Given the description of an element on the screen output the (x, y) to click on. 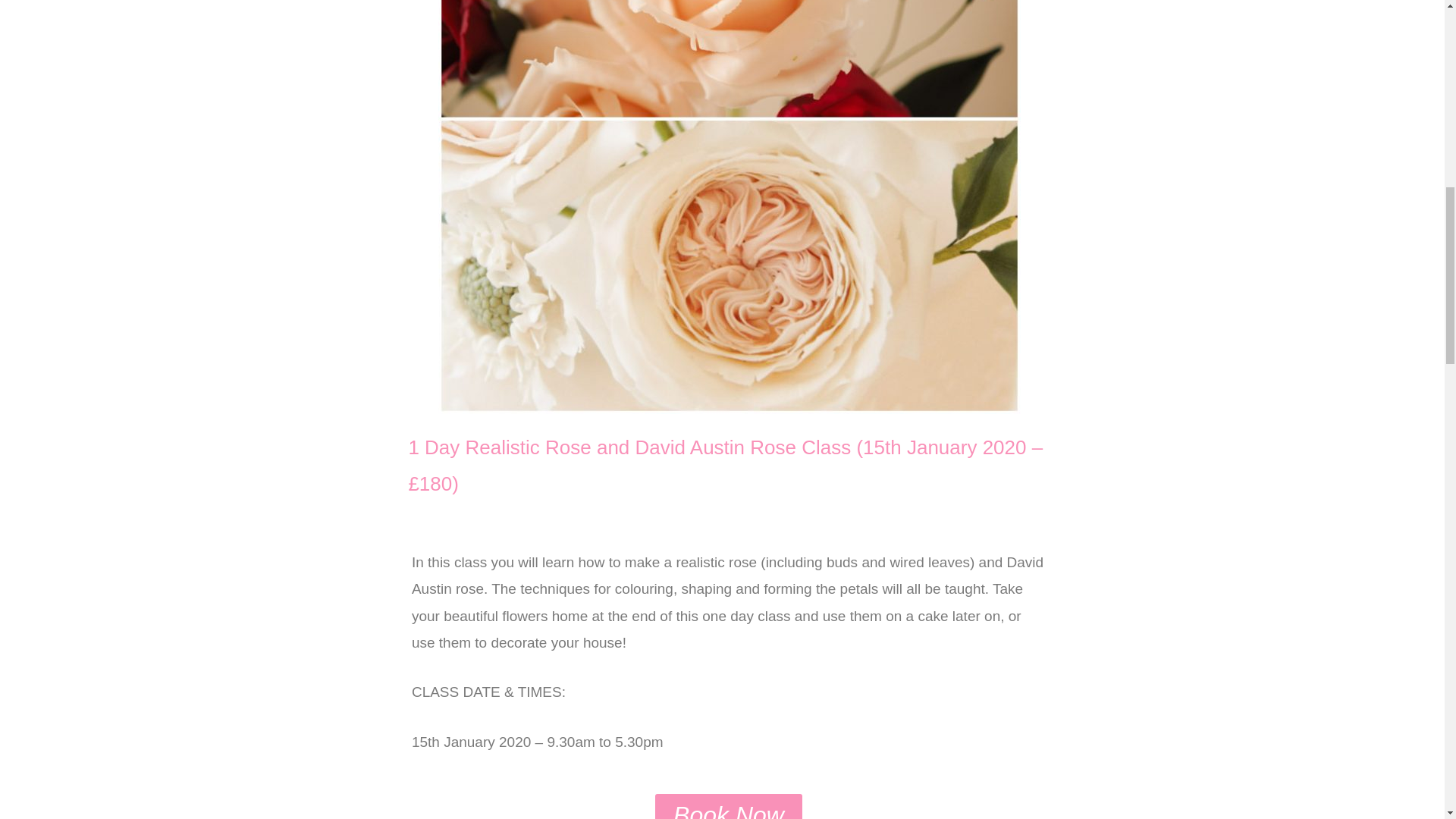
Book Now (728, 806)
